Given the description of an element on the screen output the (x, y) to click on. 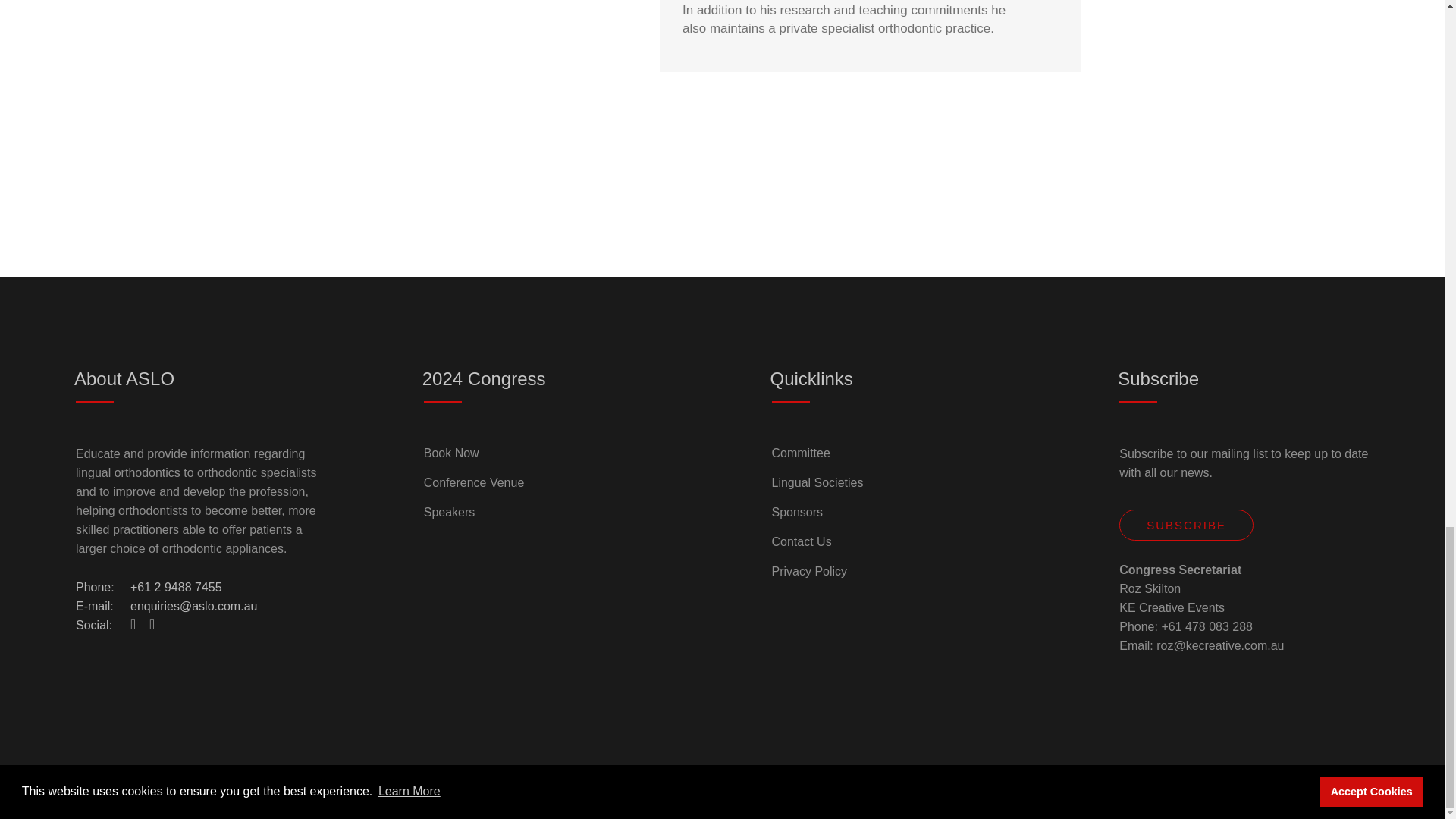
Book Now (451, 453)
Privacy Policy (809, 571)
Conference Venue (473, 483)
Committee (800, 453)
Speakers (449, 512)
Lingual Societies (817, 483)
Contact Us (801, 542)
SUBSCRIBE (1186, 524)
Sponsors (797, 512)
Flux Creative (717, 792)
